Given the description of an element on the screen output the (x, y) to click on. 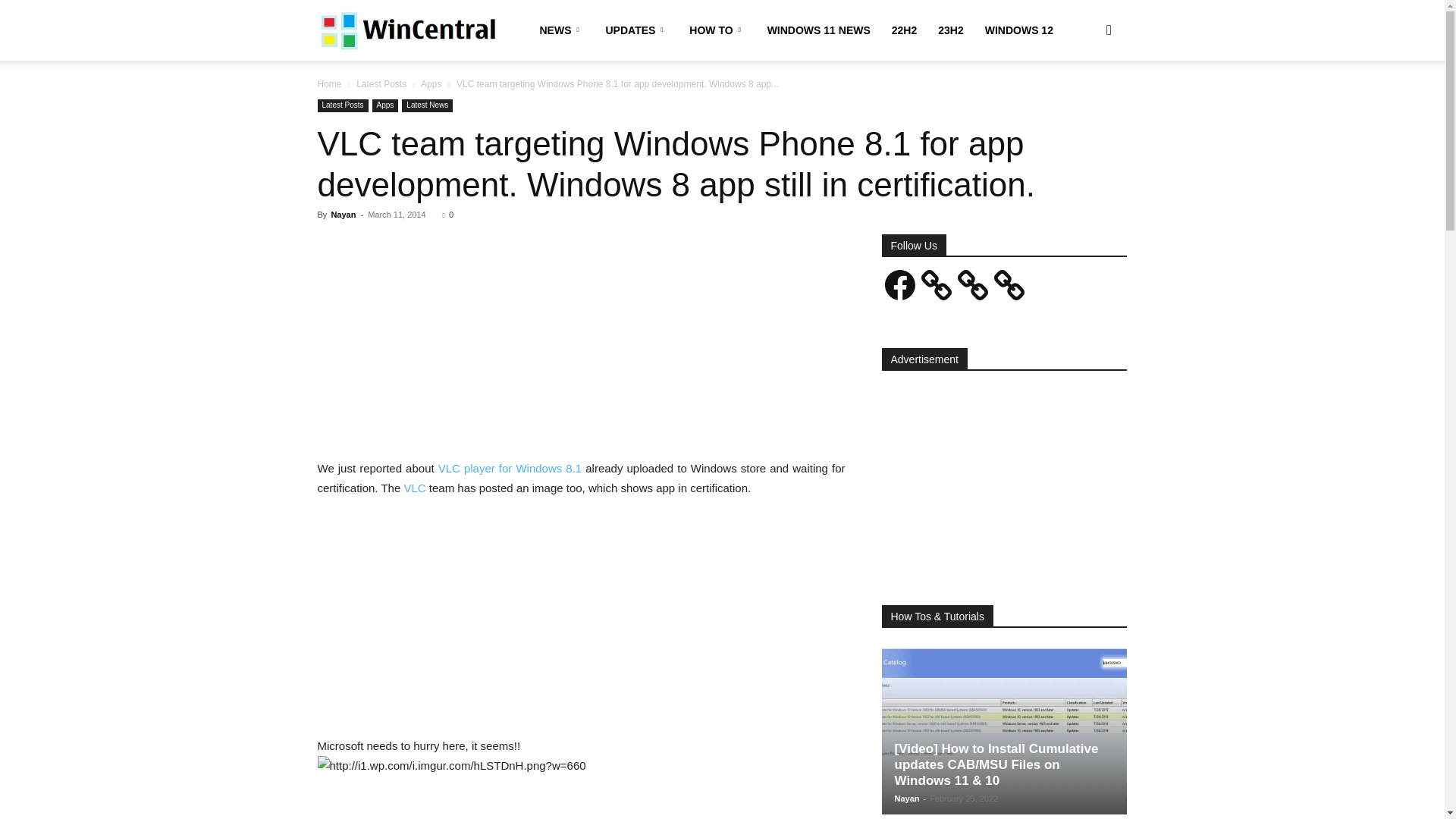
View all posts in Apps (430, 83)
HOW TO (716, 30)
Advertisement (580, 623)
0 (447, 214)
VLC (414, 487)
NEWS (562, 30)
UPDATES (636, 30)
View all posts in Latest Posts (381, 83)
Latest Posts (381, 83)
Apps (385, 105)
Nayan (342, 214)
VLC player for Windows 8.1 (509, 468)
Latest News (426, 105)
Search (1085, 102)
Apps (430, 83)
